Given the description of an element on the screen output the (x, y) to click on. 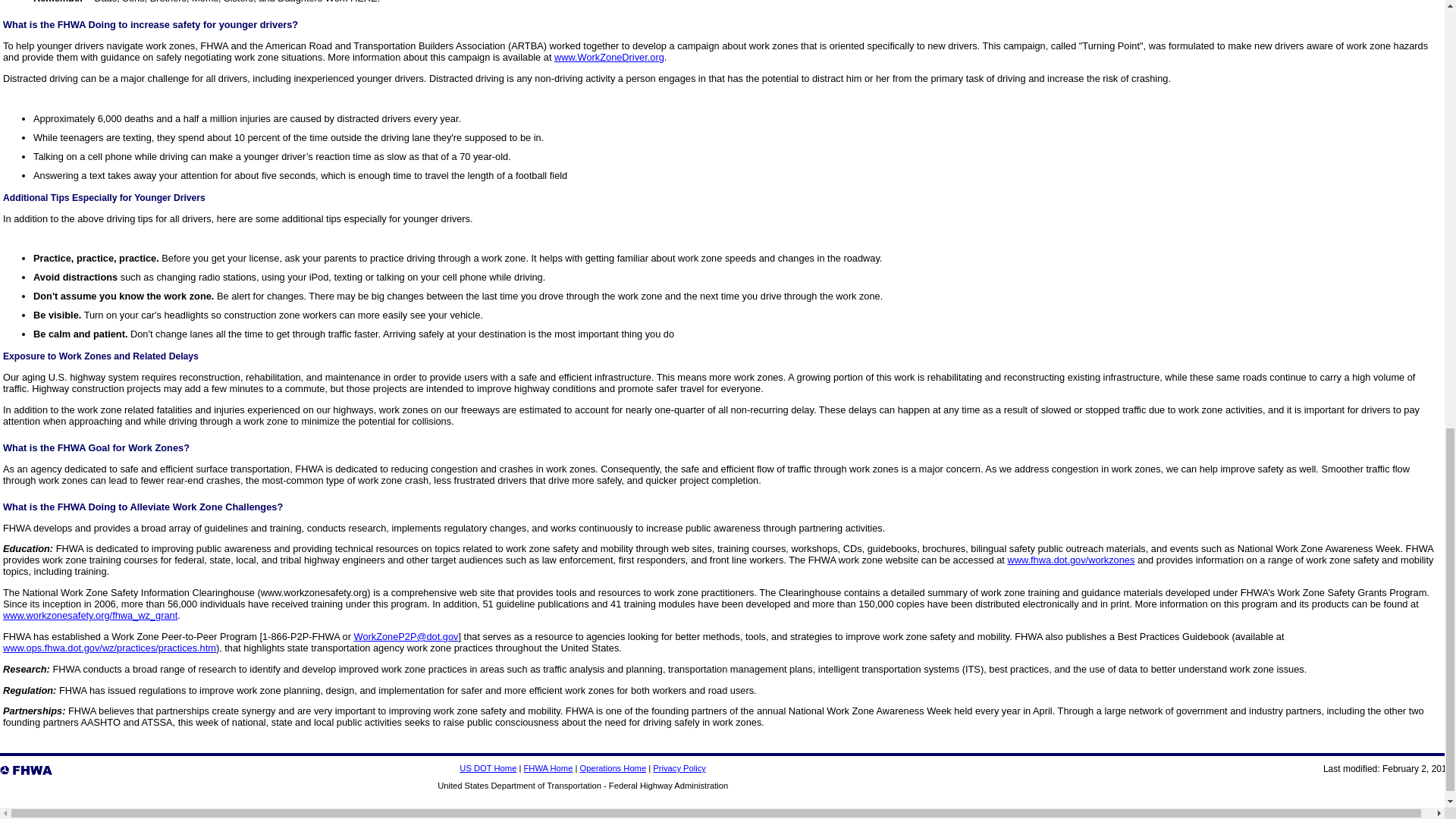
US DOT Home (488, 768)
FHWA Home (547, 768)
Privacy Policy (679, 768)
Operations Home (612, 768)
www.WorkZoneDriver.org (608, 57)
